Given the description of an element on the screen output the (x, y) to click on. 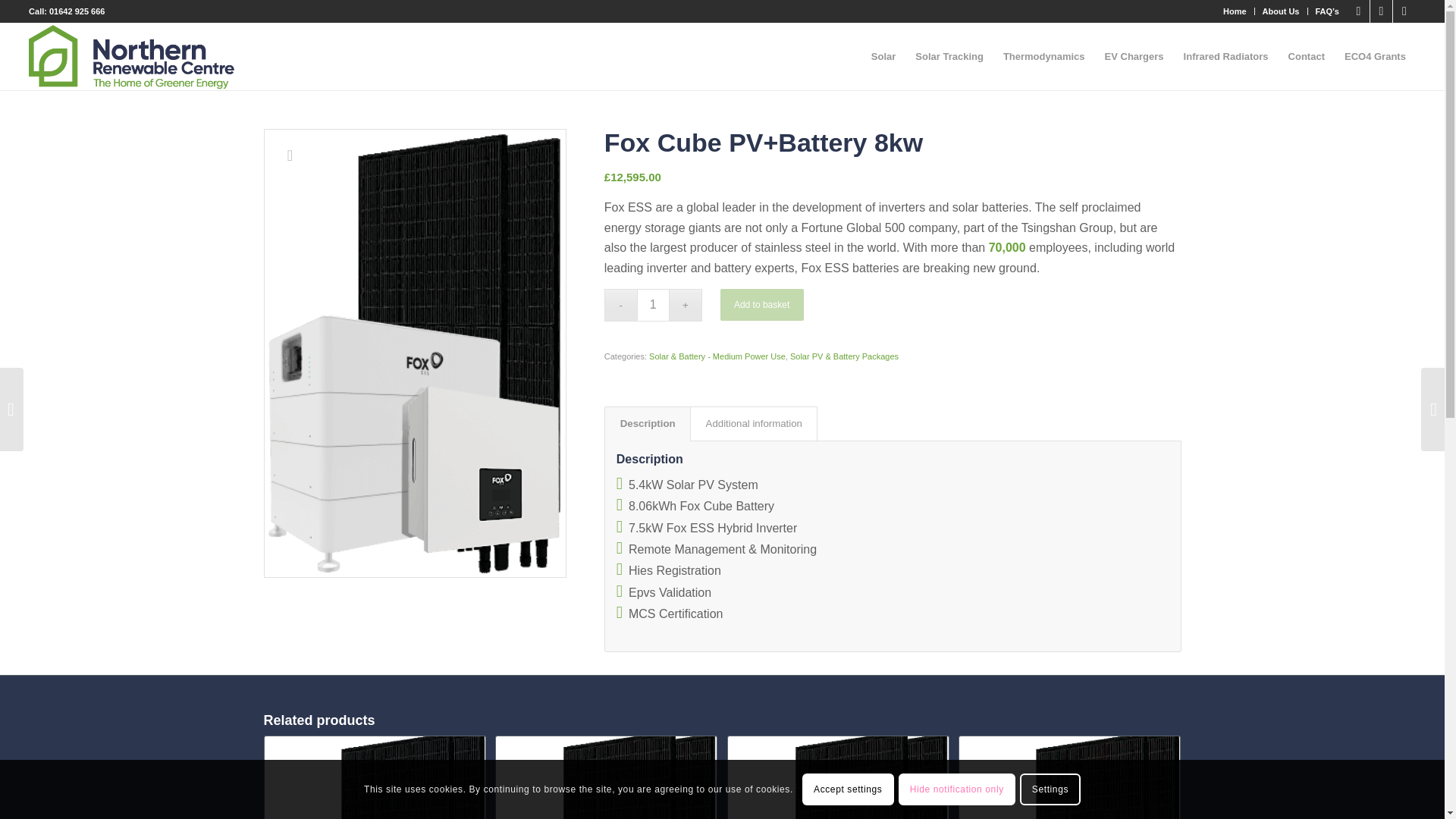
01642 925 666 (76, 10)
Thermodynamics (1043, 56)
Add to basket (761, 305)
Northern Renewable Centre (133, 56)
1 (653, 305)
Solar Tracking (948, 56)
EV Chargers (1133, 56)
Infrared Radiators (1225, 56)
Additional information (753, 423)
Twitter (1380, 11)
ECO4 Grants (1375, 56)
Home (1234, 11)
Solar (883, 56)
